Given the description of an element on the screen output the (x, y) to click on. 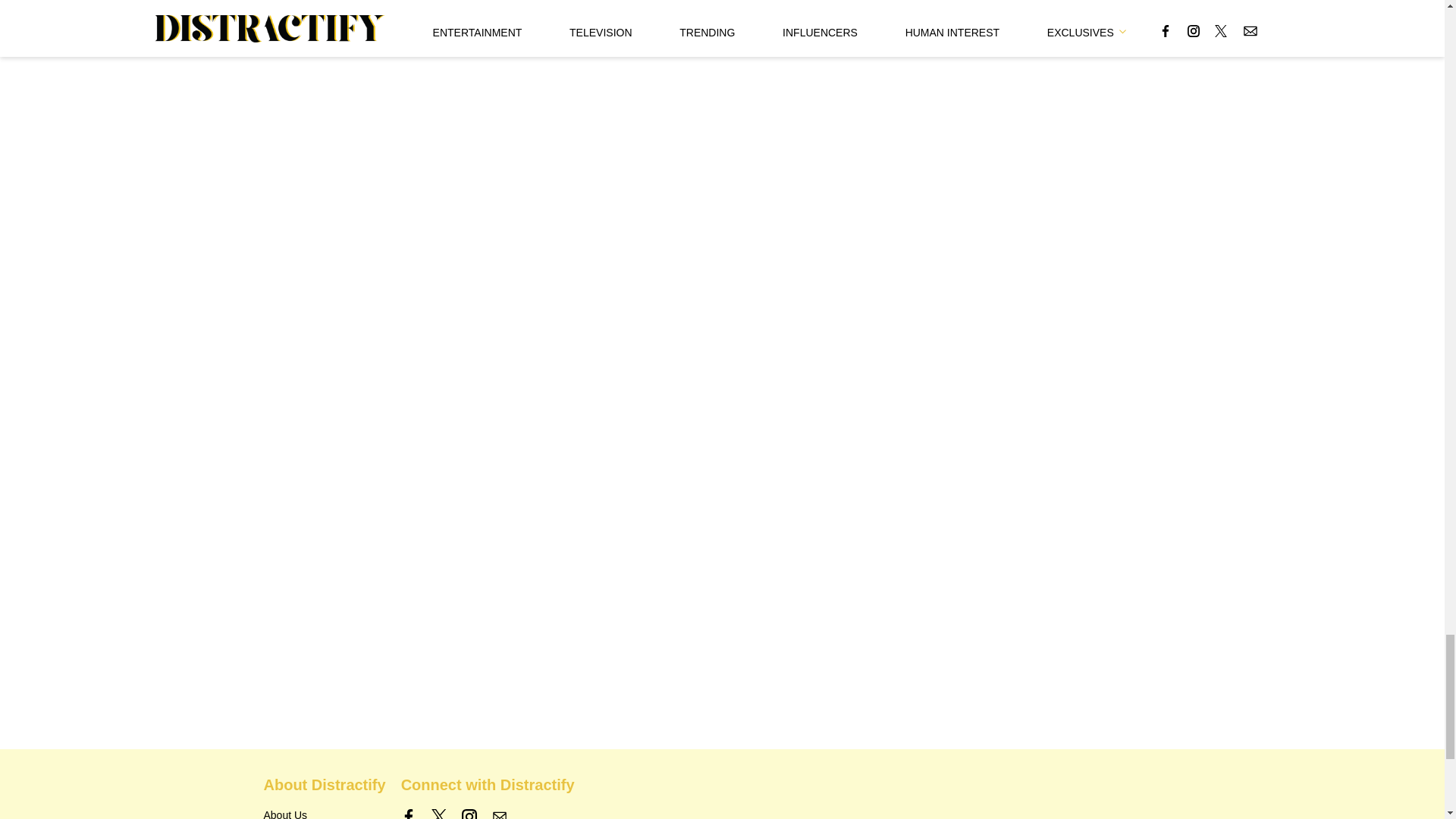
Contact us by Email (499, 814)
Link to Facebook (408, 814)
Link to Instagram (469, 814)
Link to X (438, 814)
About Us (285, 814)
About Us (285, 814)
